Given the description of an element on the screen output the (x, y) to click on. 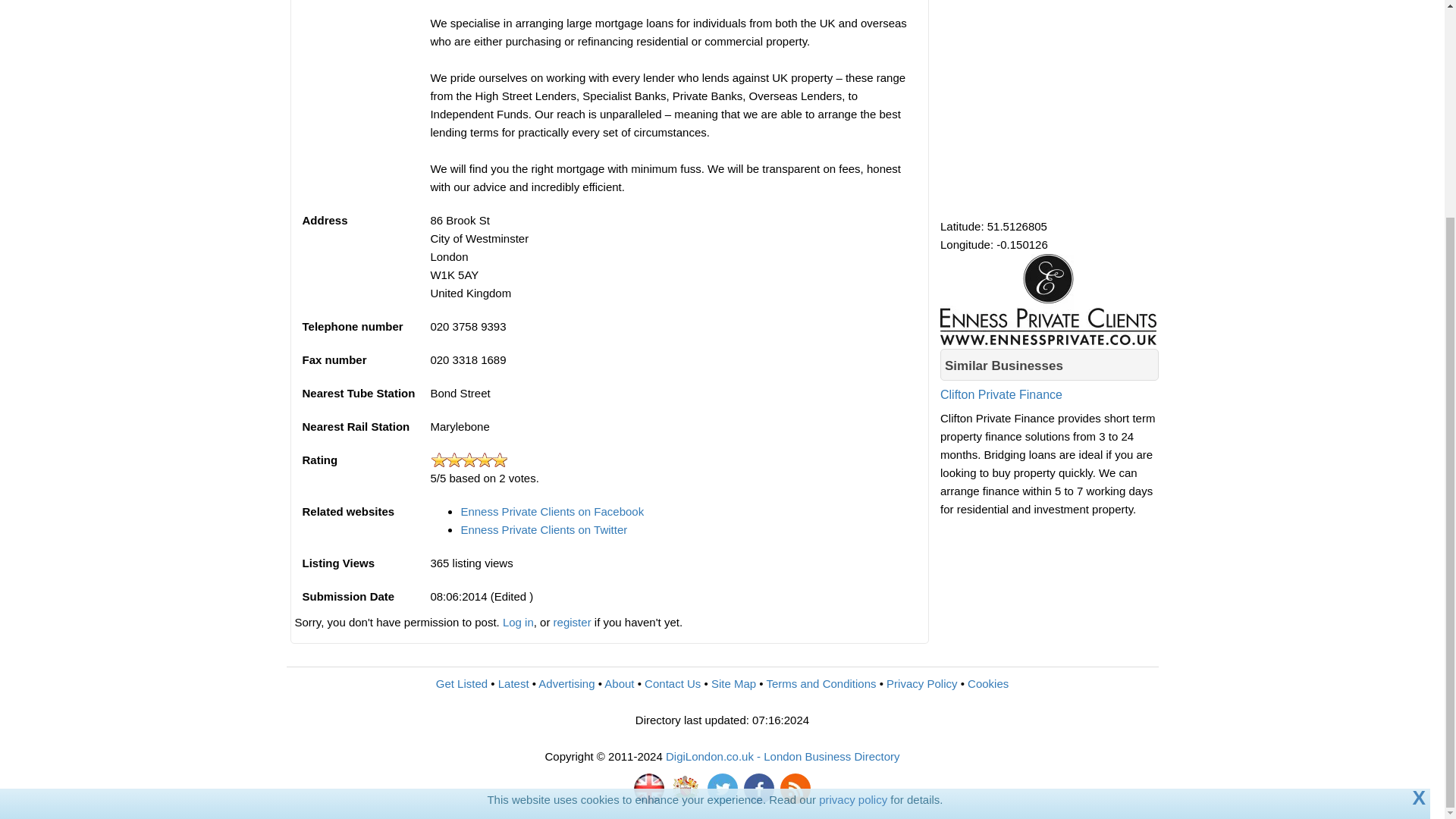
Enness Private Clients on Twitter (543, 529)
Clifton Private Finance (1049, 406)
Enness Private Clients on Facebook (551, 511)
Privacy Policy (921, 683)
EPC MASTER Stacked BLACK.jpg (1048, 299)
Site Map (733, 683)
register (572, 621)
Get Listed (461, 683)
Terms and Conditions (820, 683)
Advertising (566, 683)
Latest (513, 683)
Cookies (988, 683)
Log in (518, 621)
About (618, 683)
DigiLondon.co.uk - London Business Directory (782, 756)
